Given the description of an element on the screen output the (x, y) to click on. 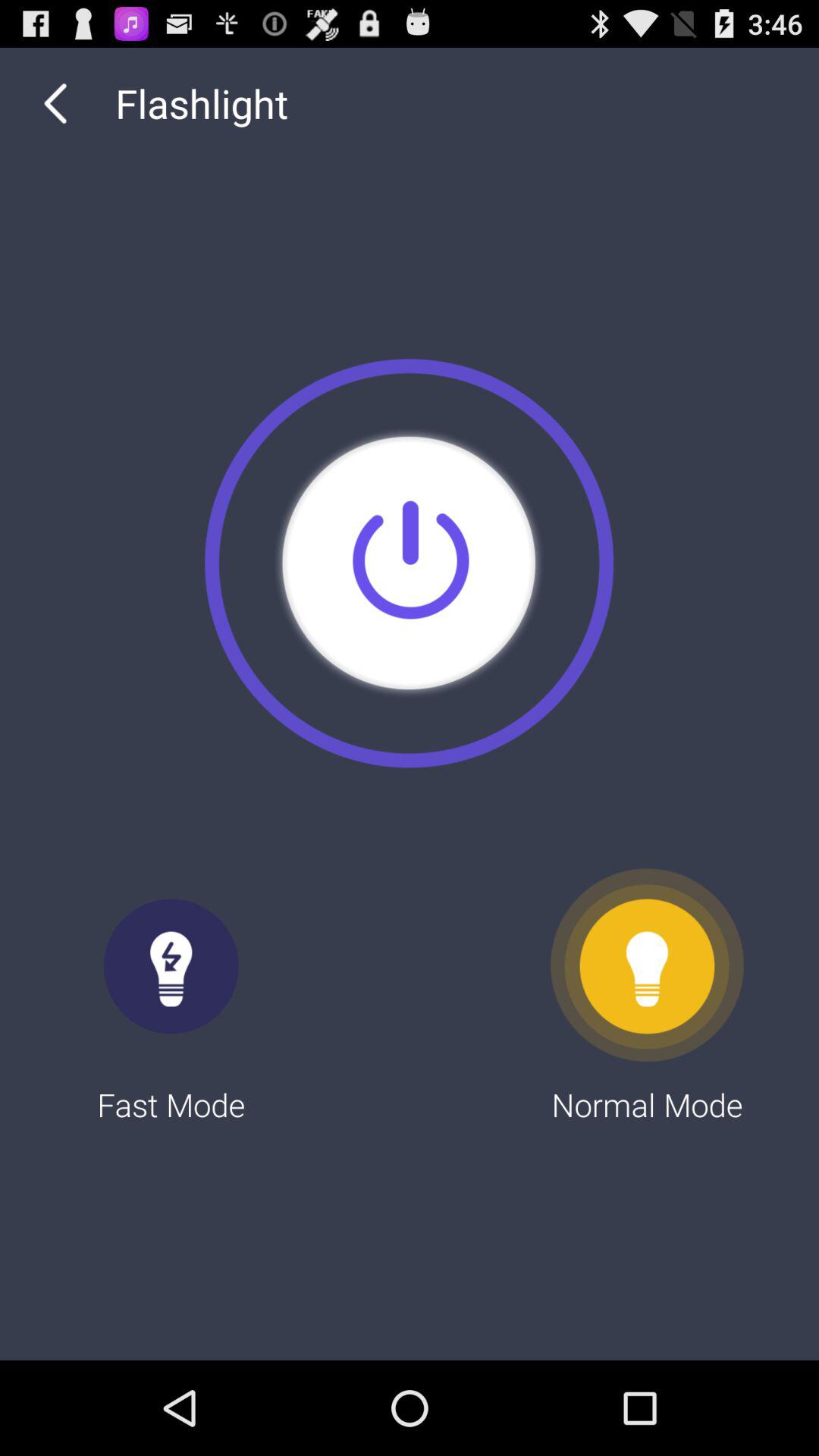
scroll until the normal mode item (647, 996)
